Given the description of an element on the screen output the (x, y) to click on. 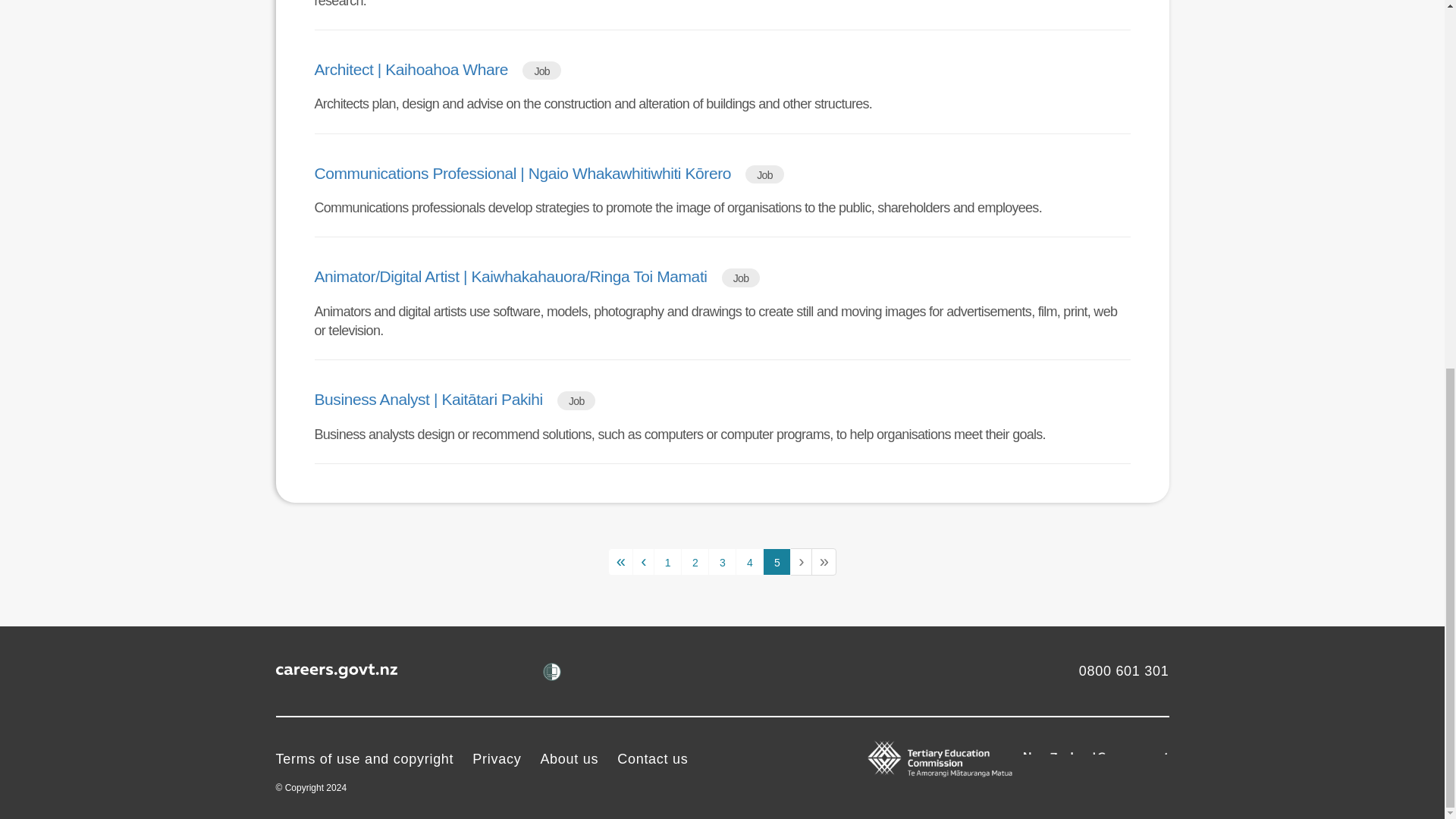
View page number 5 (776, 561)
View page number 4 (748, 561)
View page number 3 (721, 561)
go to our YouTube channel (470, 670)
go to our Instagram channel (510, 670)
go to our Facebook channel (429, 670)
View page number 1 (667, 561)
View page number 2 (695, 561)
